Given the description of an element on the screen output the (x, y) to click on. 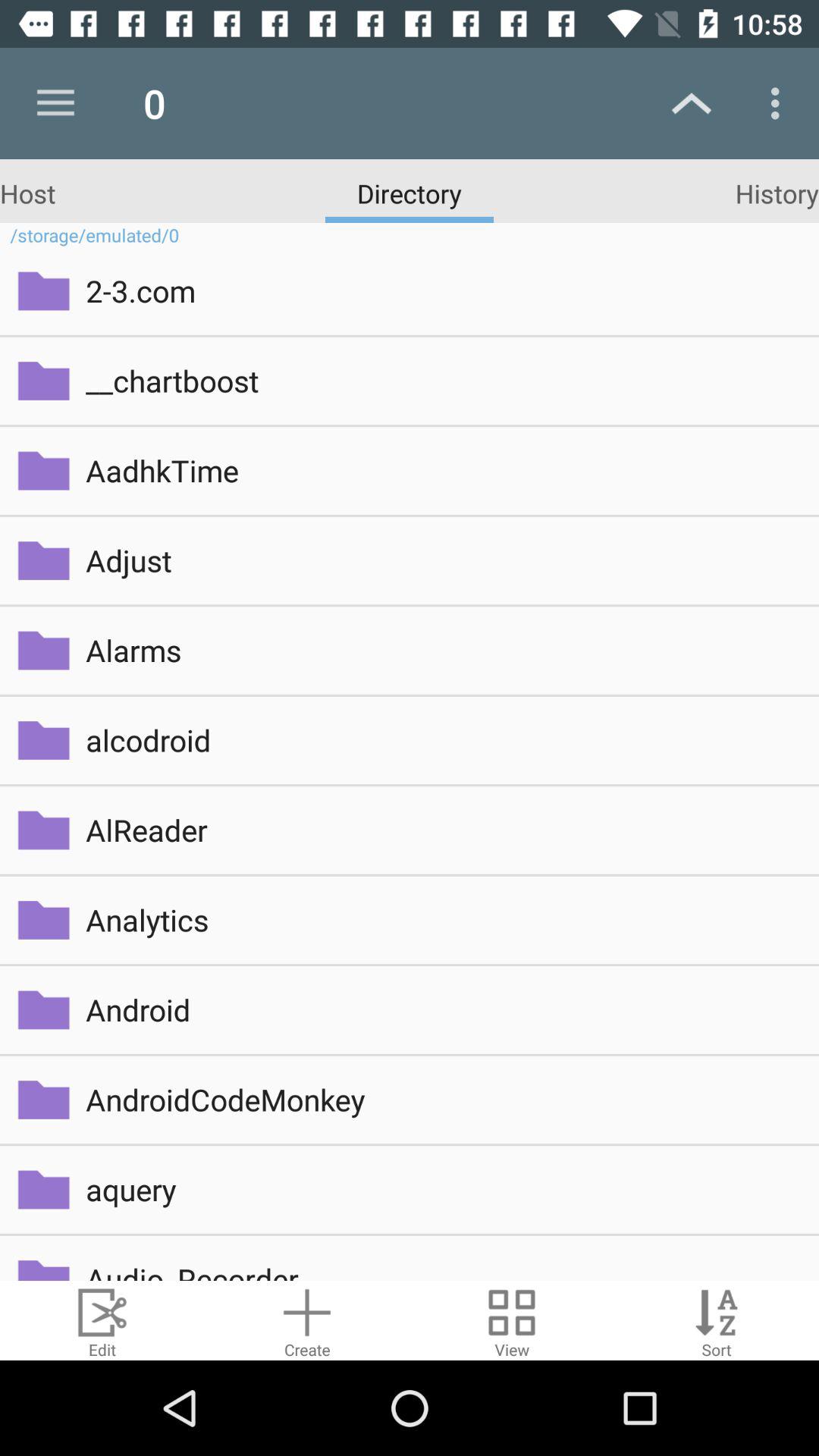
click alarms item (441, 650)
